Given the description of an element on the screen output the (x, y) to click on. 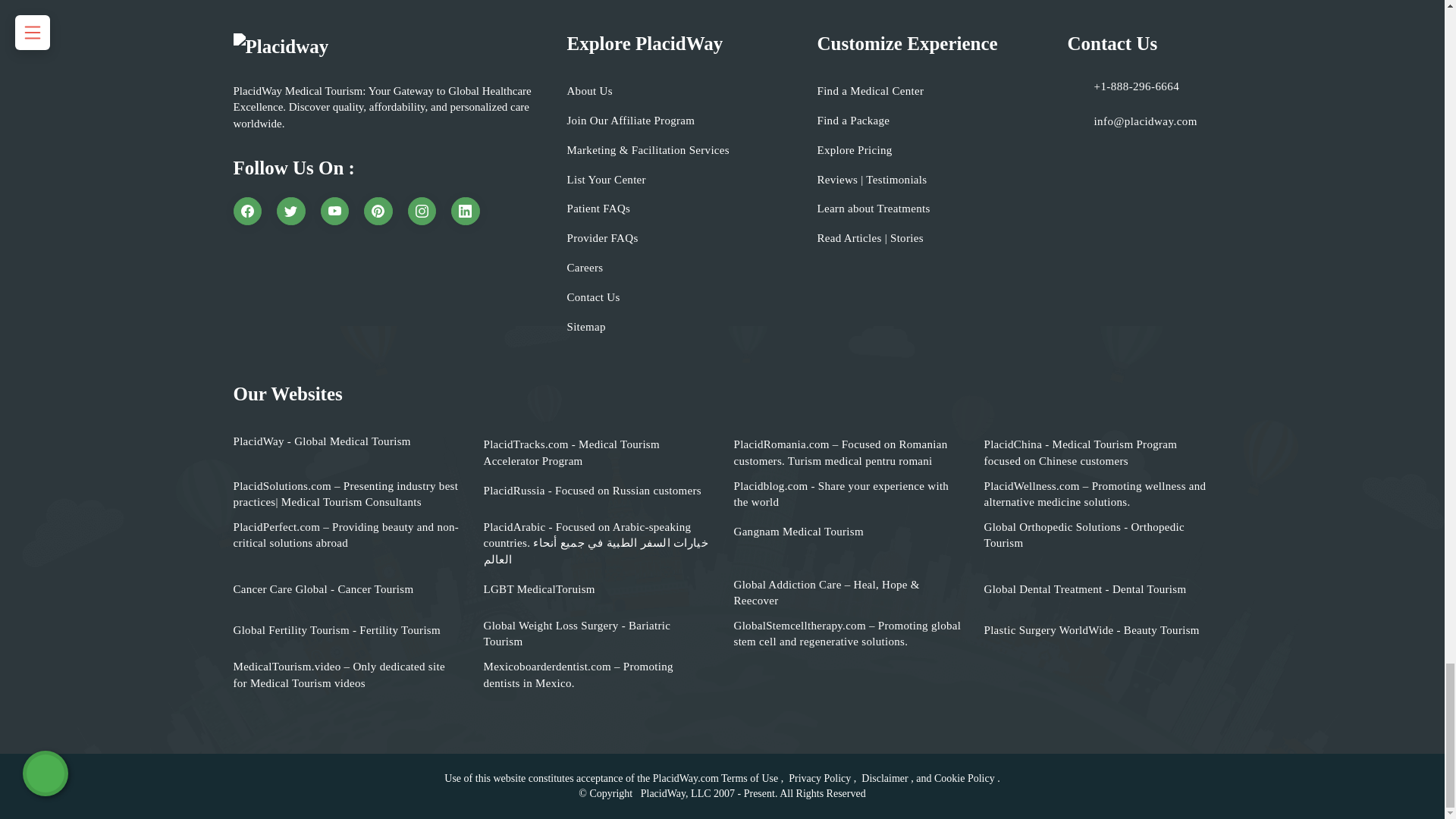
Placidway's Twitter Account (290, 211)
Placidway's Pinterest Account (378, 211)
Placidblog.com - Share your experience with the world (846, 494)
Gangnam Medical Tourism (798, 531)
PlacidWay - Global Medical Tourism (321, 441)
Global Orthopedic Solutions - Orthopedic Tourism (1097, 535)
Placidway's Youtube Account (334, 211)
Placidway's facebook Account (247, 211)
PlacidRussia - Focused on Russian customers (592, 490)
Placidway's Instagram Account (421, 211)
Cancer Care Global - Cancer Tourism (322, 589)
PlacidTracks.com - Medical Tourism Accelerator Program (597, 452)
Placidway's Linkedin Account (465, 211)
